Given the description of an element on the screen output the (x, y) to click on. 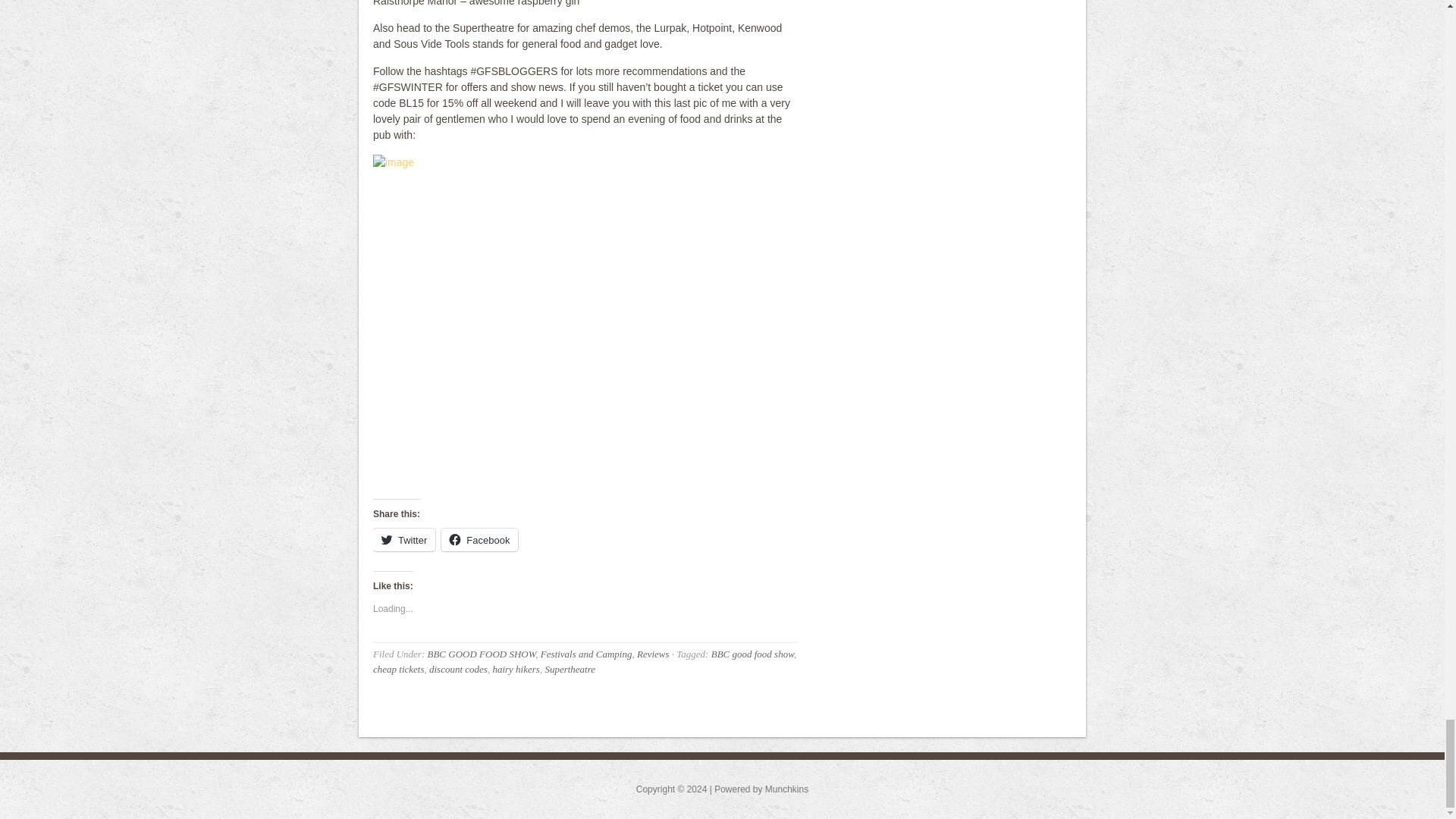
Click to share on Twitter (403, 539)
BBC GOOD FOOD SHOW (480, 654)
Twitter (403, 539)
Festivals and Camping (585, 654)
cheap tickets (398, 668)
hairy hikers (515, 668)
Click to share on Facebook (479, 539)
Facebook (479, 539)
Reviews (653, 654)
discount codes (458, 668)
BBC good food show (752, 654)
